Given the description of an element on the screen output the (x, y) to click on. 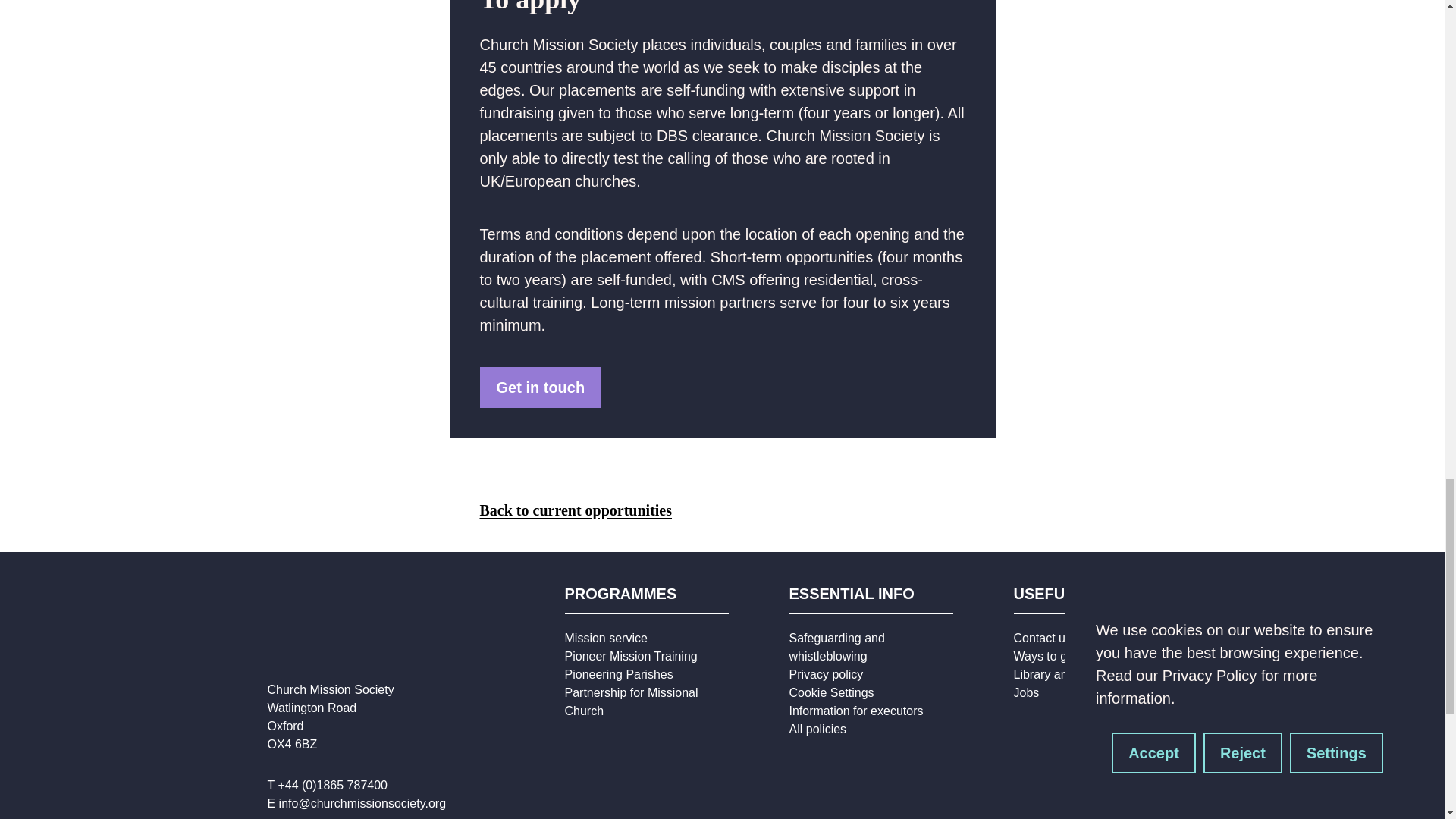
Get in touch (540, 386)
Back to current opportunities (575, 510)
